Given the description of an element on the screen output the (x, y) to click on. 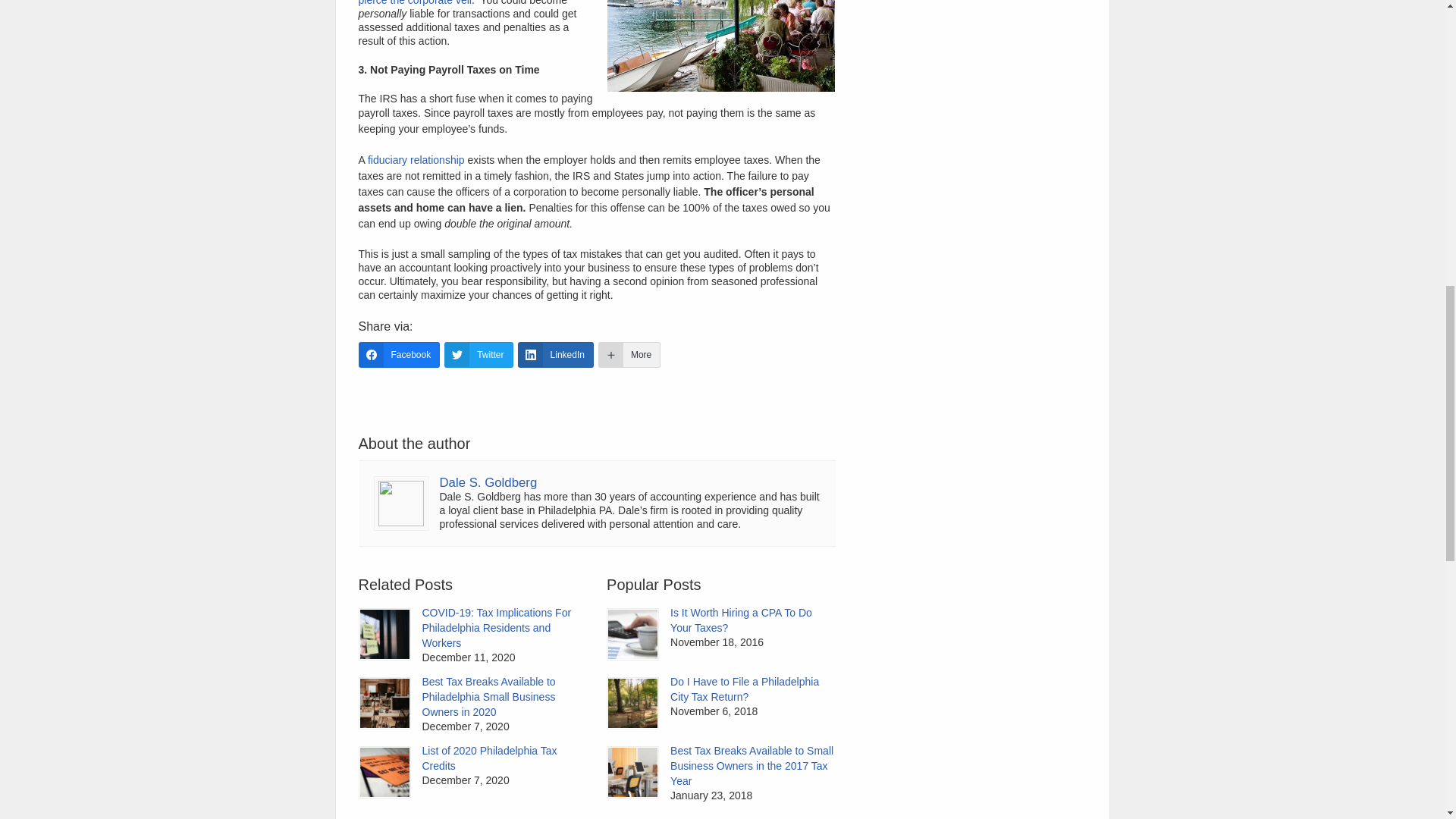
pierce the corporate veil (414, 2)
Facebook (398, 354)
LinkedIn (556, 354)
More (629, 354)
fiduciary relationship (416, 159)
Twitter (478, 354)
